Given the description of an element on the screen output the (x, y) to click on. 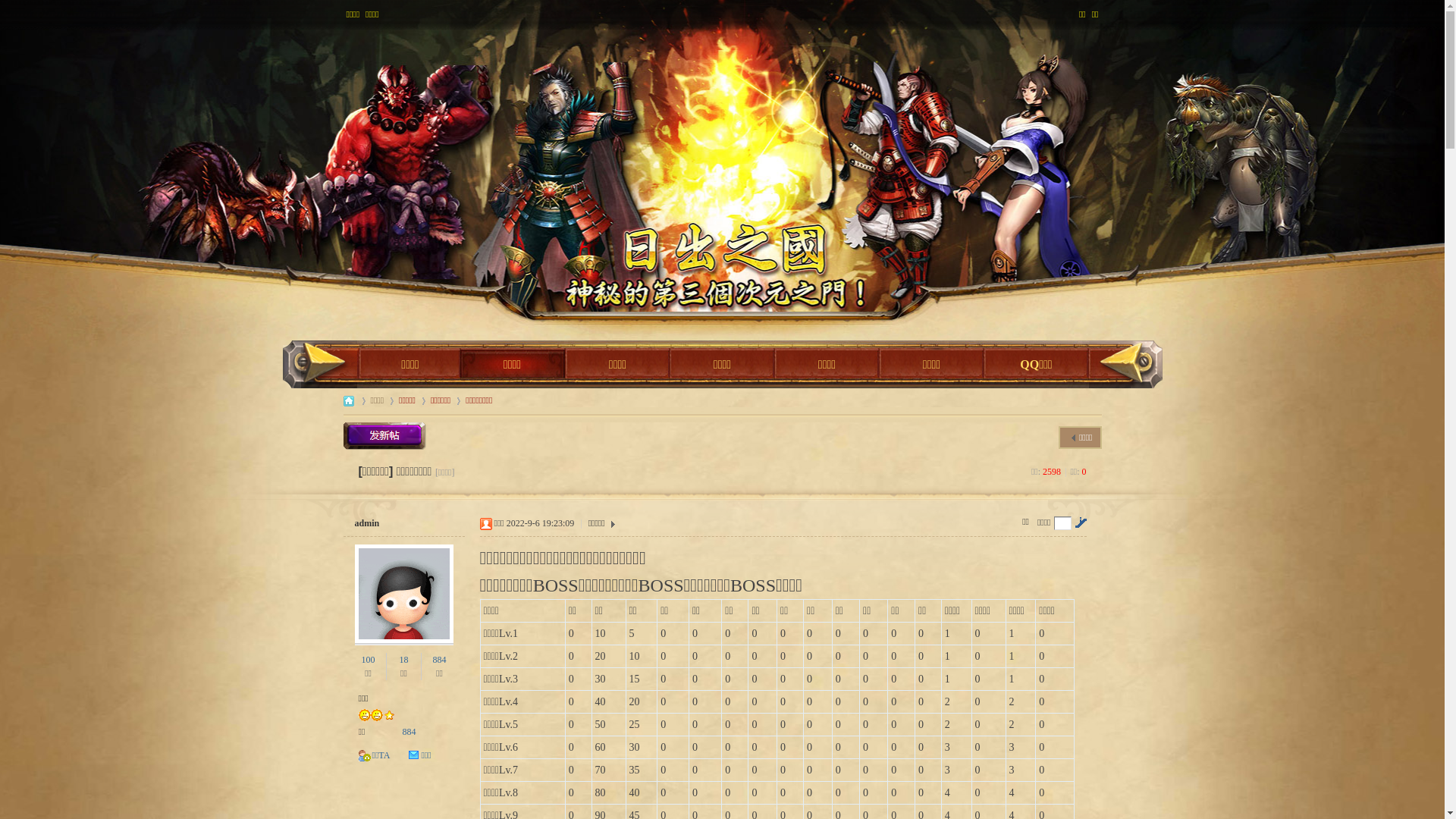
884 Element type: text (438, 659)
18 Element type: text (402, 659)
admin Element type: text (366, 522)
100 Element type: text (368, 659)
884 Element type: text (408, 731)
